Given the description of an element on the screen output the (x, y) to click on. 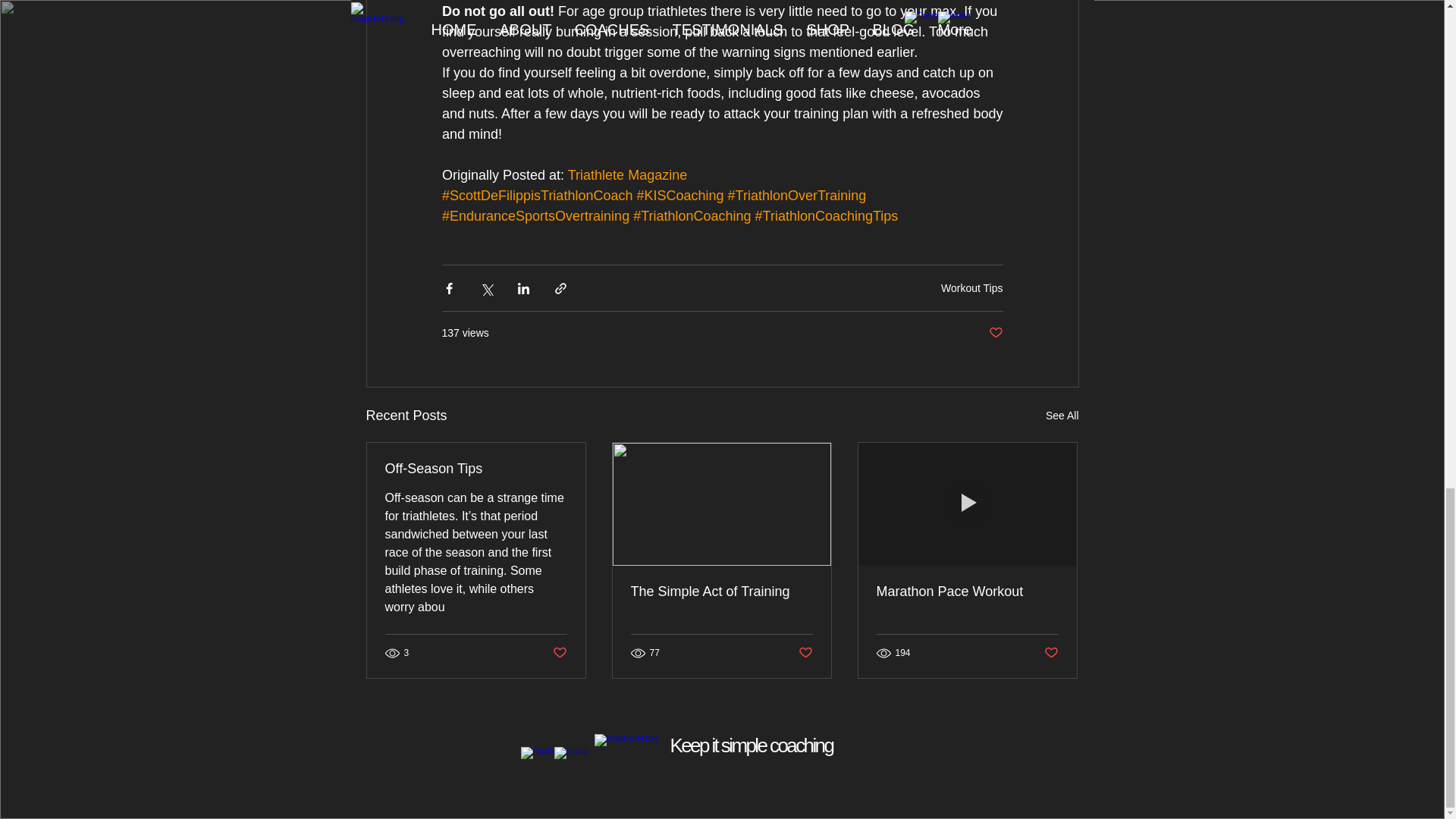
Post not marked as liked (1050, 652)
The Simple Act of Training (721, 591)
Post not marked as liked (995, 333)
Marathon Pace Workout (967, 591)
Post not marked as liked (558, 652)
See All (1061, 415)
Post not marked as liked (804, 652)
Off-Season Tips (476, 468)
Workout Tips (971, 287)
Triathlete Magazine (626, 174)
